Given the description of an element on the screen output the (x, y) to click on. 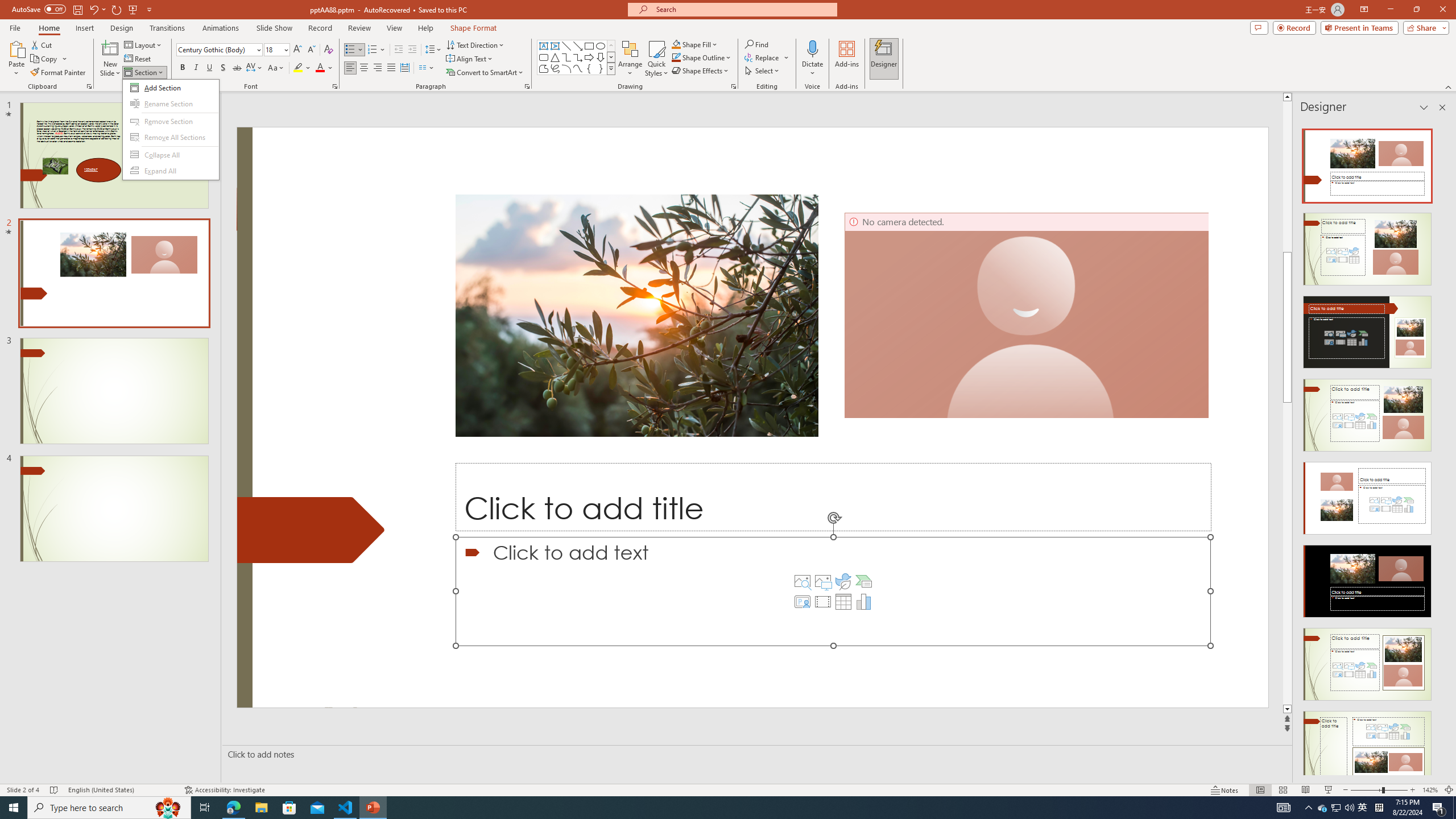
Design Idea (1366, 743)
Insert Video (822, 601)
Recommended Design: Design Idea (1366, 162)
Stock Images (801, 581)
